Given the description of an element on the screen output the (x, y) to click on. 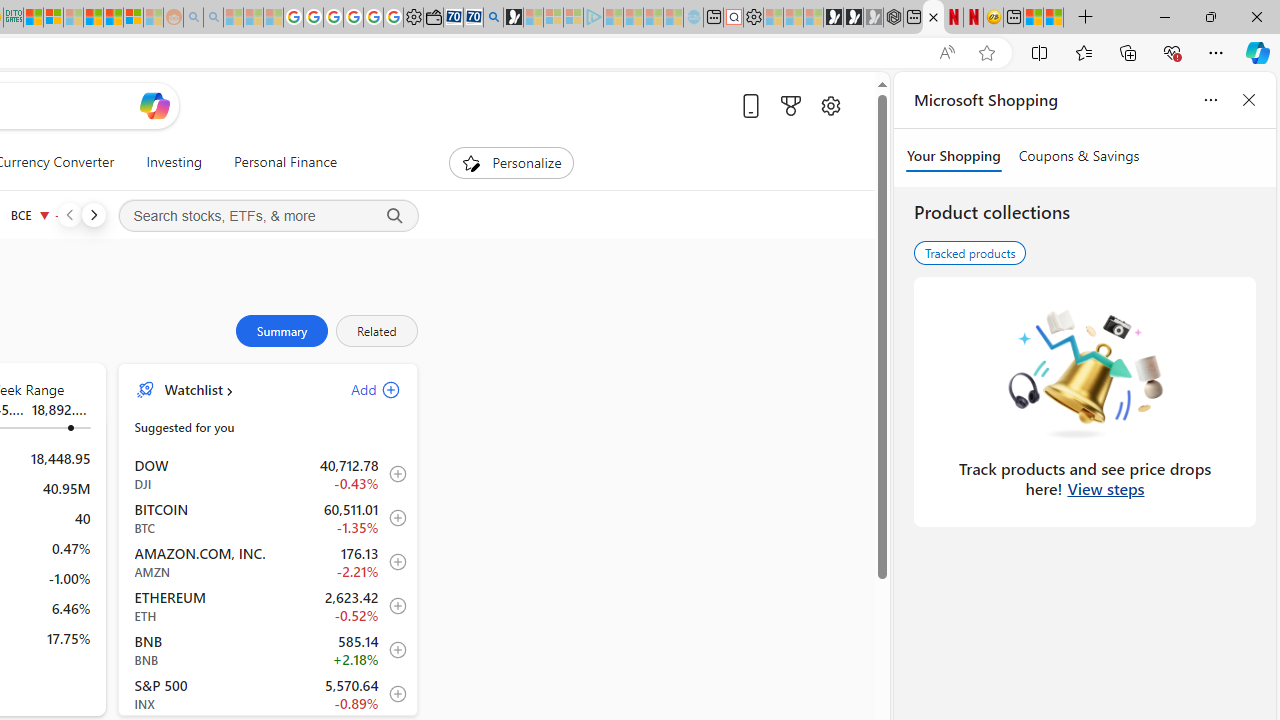
Wallet (432, 17)
Search stocks, ETFs, & more (267, 215)
Investing (174, 162)
Watchlist (192, 390)
Personal Finance (285, 162)
Bing Real Estate - Home sales and rental listings (493, 17)
